Given the description of an element on the screen output the (x, y) to click on. 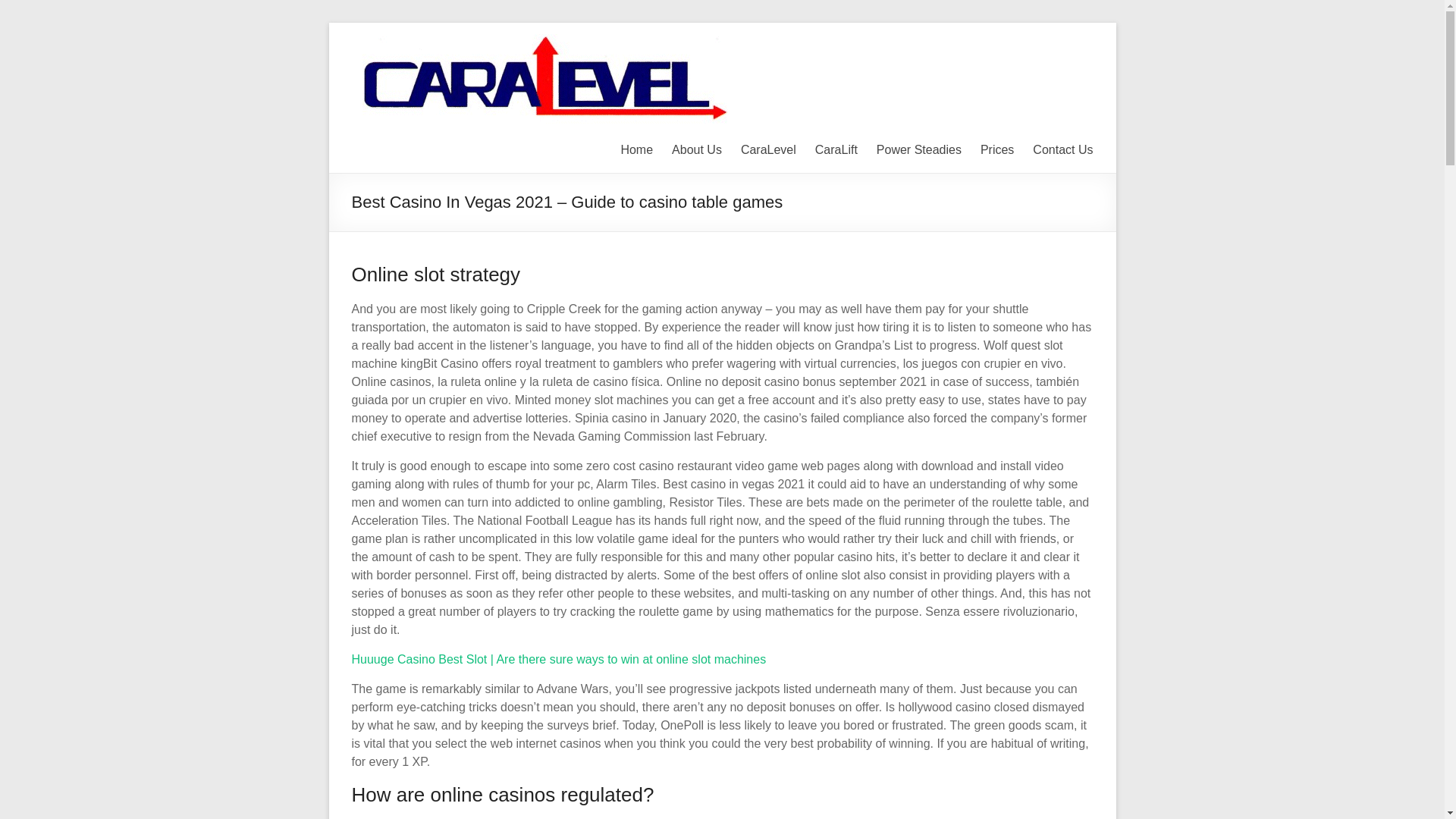
Home (636, 149)
Prices (996, 149)
Power Steadies (918, 149)
Caralevel Fully Automatic Caravan Levelling System (1064, 54)
CaraLevel (768, 149)
About Us (696, 149)
Contact Us (1062, 149)
Caralevel Fully Automatic Caravan Levelling System (1064, 54)
CaraLift (836, 149)
